Given the description of an element on the screen output the (x, y) to click on. 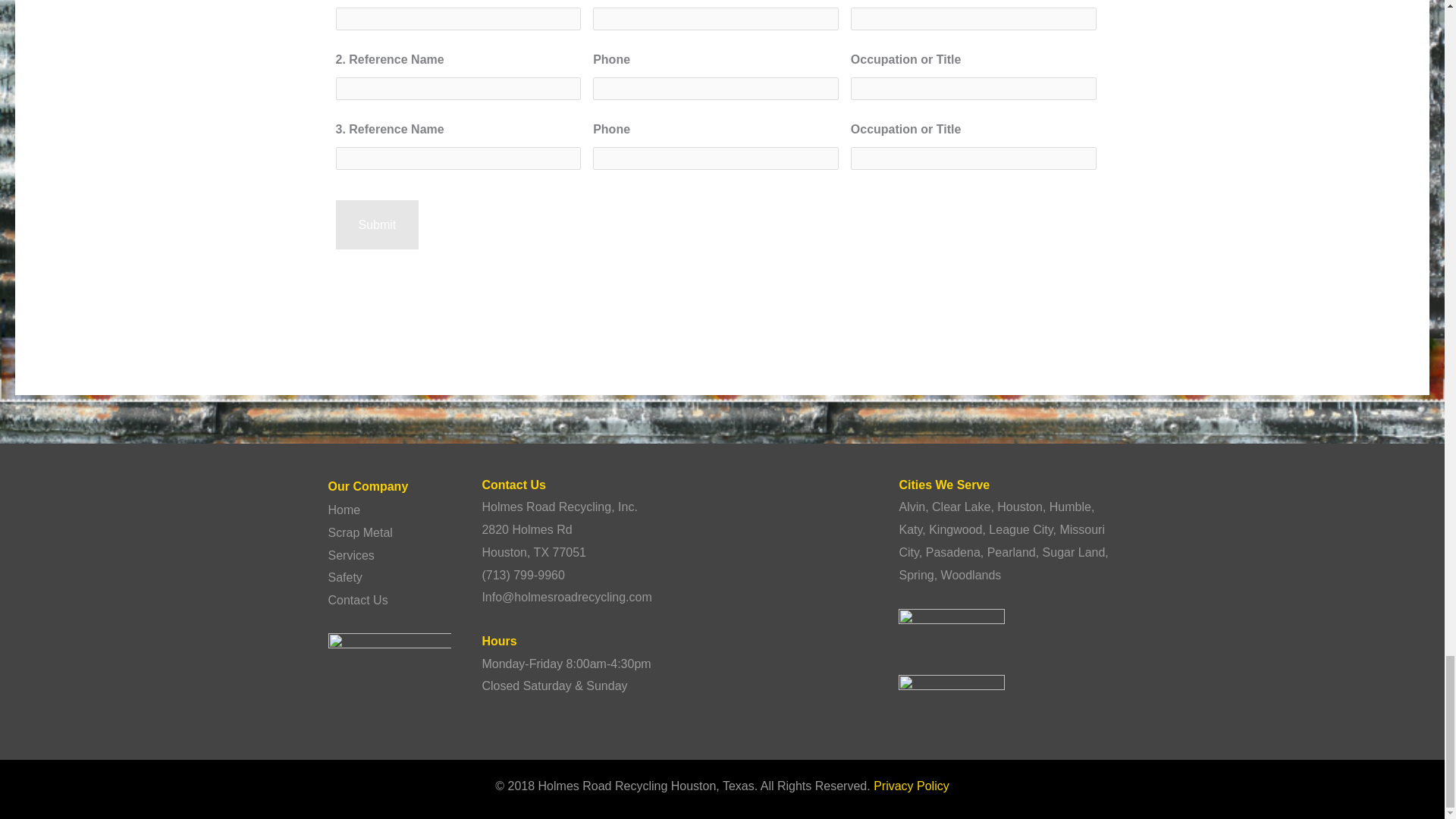
Clear Lake (960, 506)
Safety (344, 576)
Kingwood (954, 529)
Houston (1019, 506)
Humble (1069, 506)
Services (350, 554)
Alvin (911, 506)
Home (343, 509)
League City (1020, 529)
Katy (909, 529)
Contact Us (357, 599)
Submit (376, 224)
Missouri City (1001, 540)
Scrap Metal (359, 532)
